Given the description of an element on the screen output the (x, y) to click on. 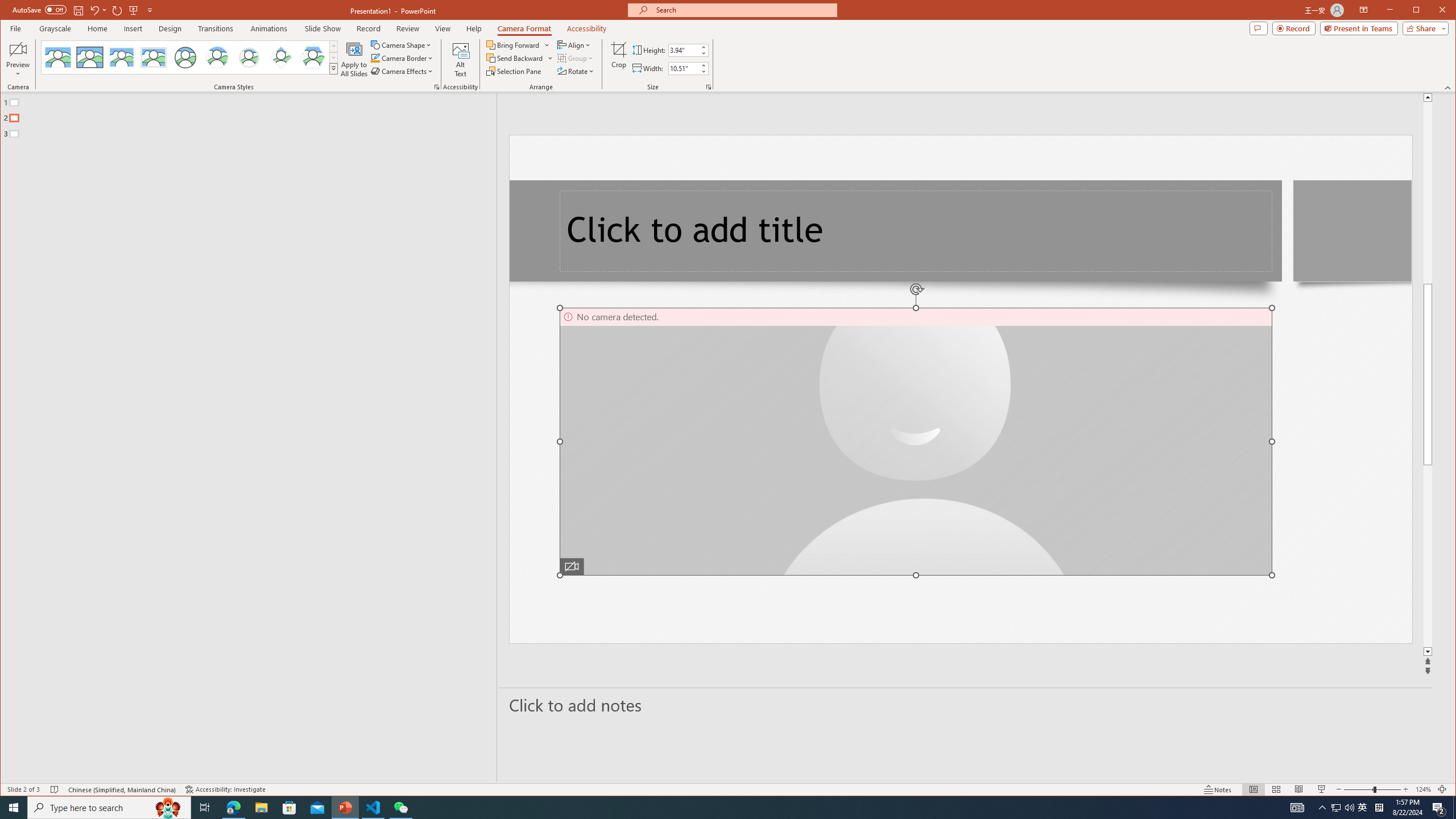
Enable Camera Preview (17, 48)
Center Shadow Hexagon (313, 57)
Bring Forward (517, 44)
Zoom 124% (1422, 789)
WeChat - 1 running window (400, 807)
